Given the description of an element on the screen output the (x, y) to click on. 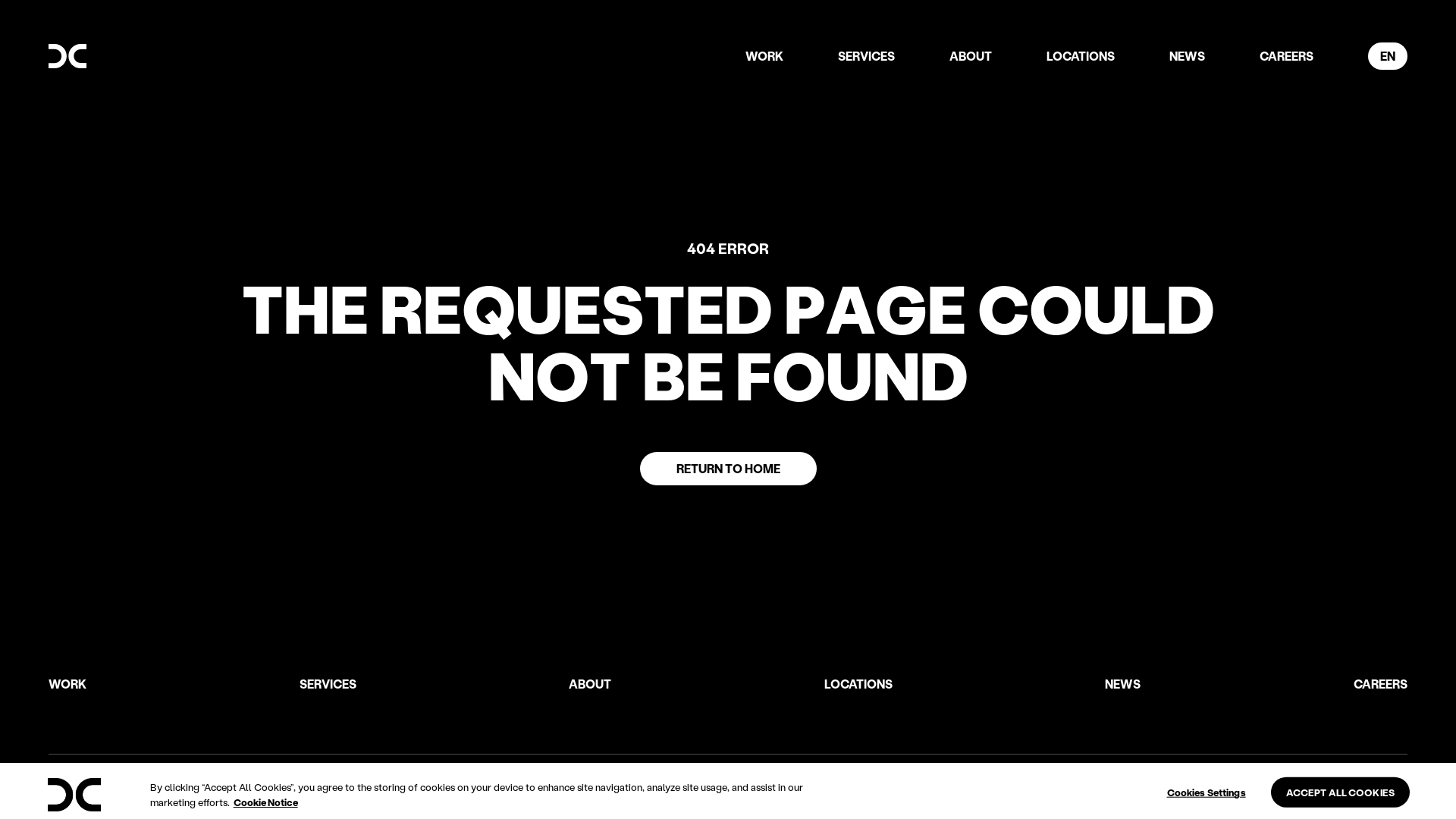
Dentsu Creative Element type: hover (73, 794)
Cookie Notice Element type: text (265, 801)
EN Element type: text (1387, 55)
R
E
T
U
R
N
T
O
H
O
M
E Element type: text (728, 468)
CAREERS Element type: text (1286, 56)
WORK Element type: text (764, 56)
CAREERS Element type: text (1380, 683)
ACCEPT ALL COOKIES Element type: text (1339, 792)
SERVICES Element type: text (865, 56)
ABOUT Element type: text (970, 56)
Cookies Settings Element type: text (1206, 792)
NEWS Element type: text (1186, 56)
NEWS Element type: text (1122, 683)
WORK Element type: text (67, 683)
SERVICES Element type: text (327, 683)
LOCATIONS Element type: text (1080, 56)
ABOUT Element type: text (589, 683)
LOCATIONS Element type: text (858, 683)
